Given the description of an element on the screen output the (x, y) to click on. 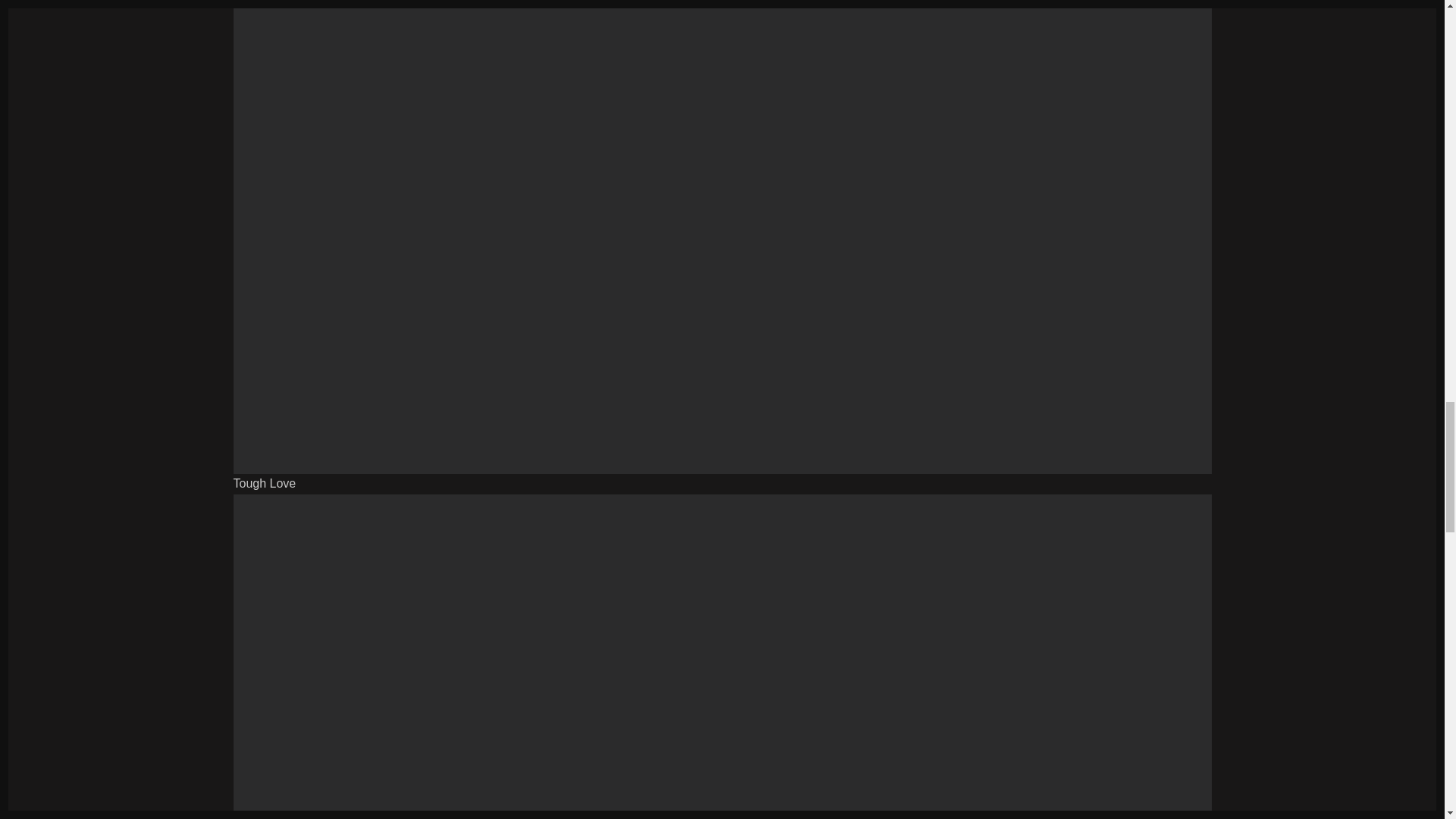
Tough Love (264, 482)
